Given the description of an element on the screen output the (x, y) to click on. 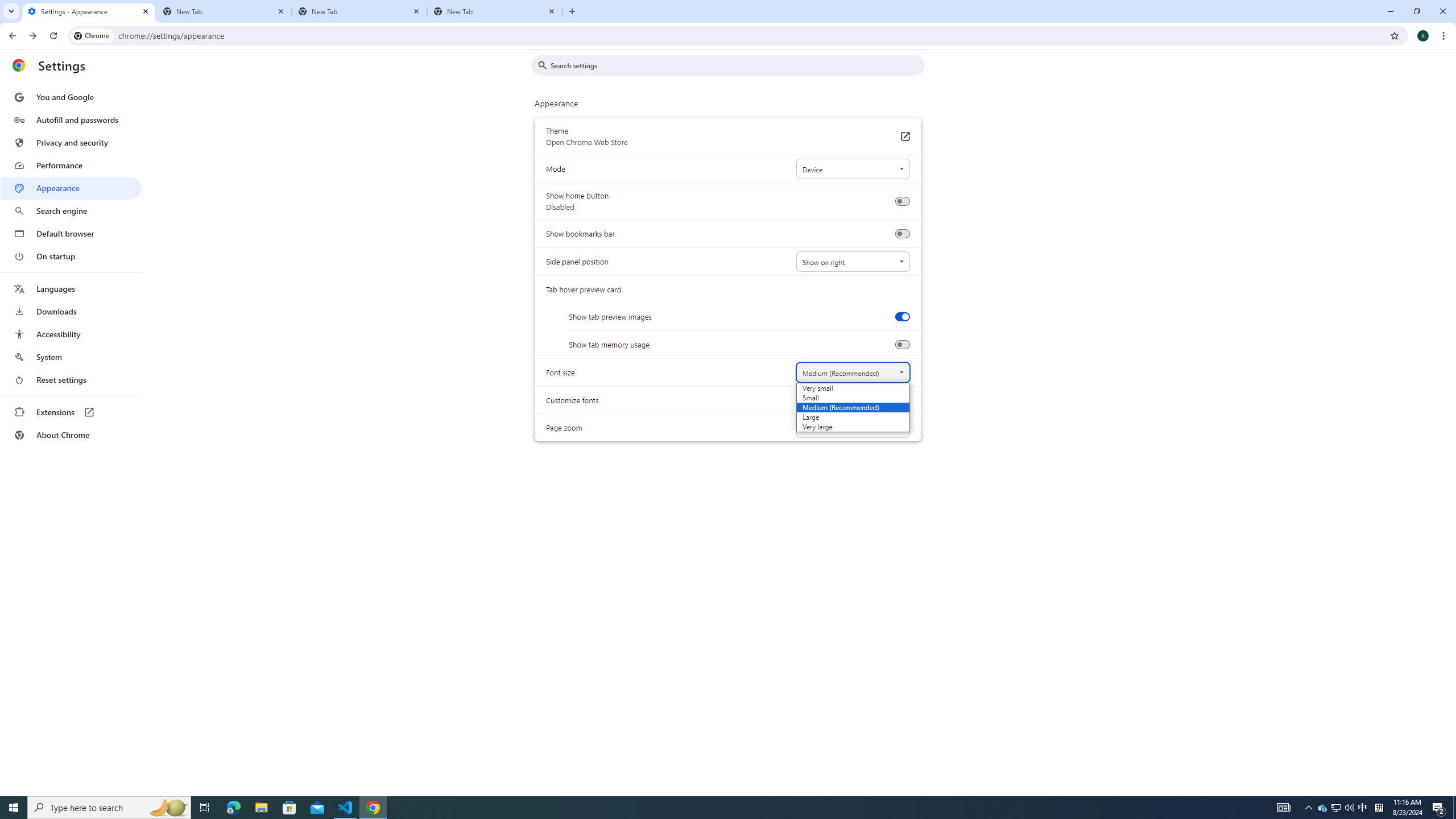
Appearance (70, 187)
Search settings (735, 65)
Font size (852, 372)
Performance (70, 164)
Privacy and security (70, 142)
Downloads (70, 311)
You and Google (70, 96)
About Chrome (70, 434)
Languages (70, 288)
